Given the description of an element on the screen output the (x, y) to click on. 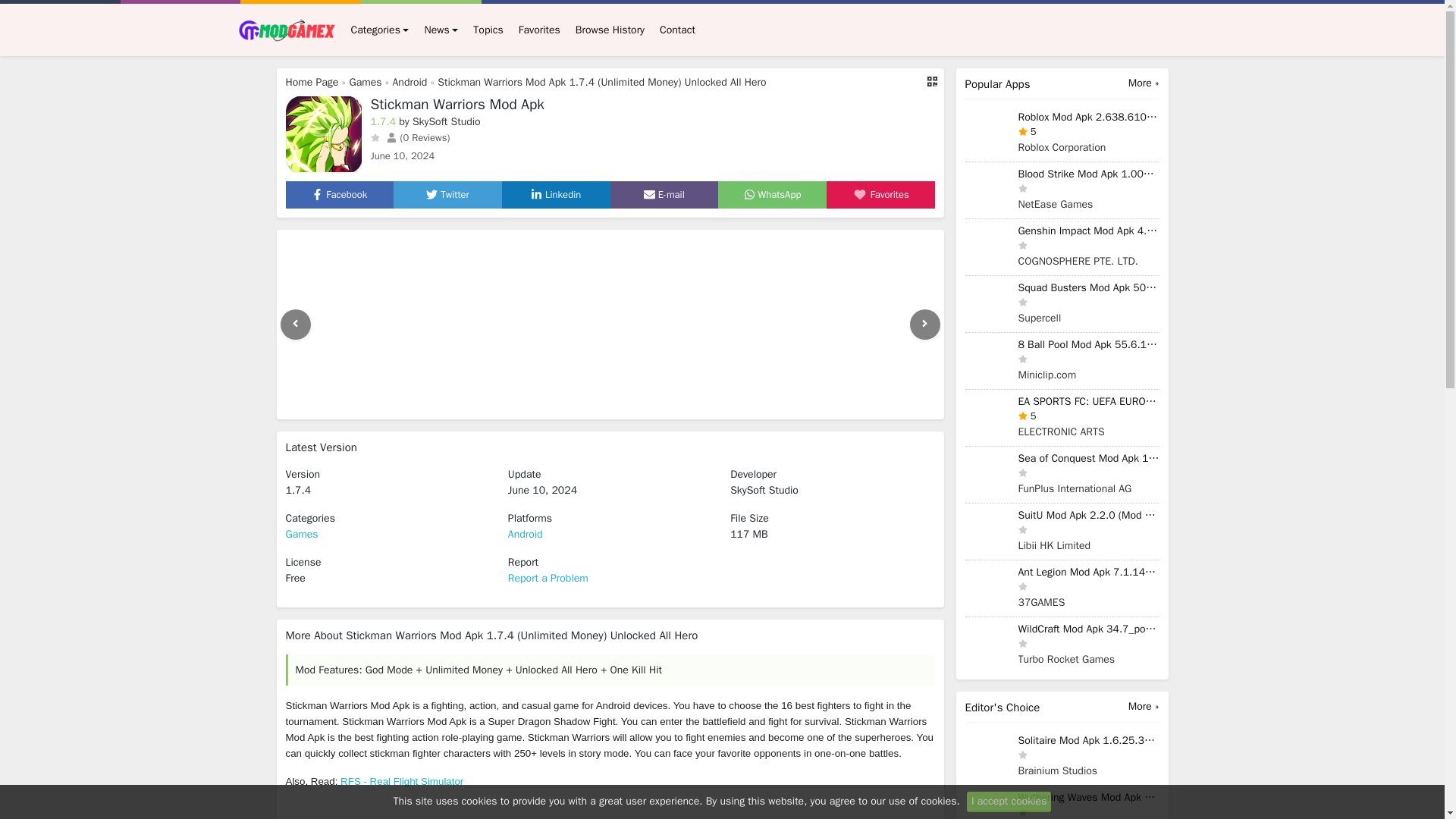
Home Page (311, 82)
Games (365, 82)
Categories (378, 29)
Linkedin (555, 194)
News (440, 29)
Facebook (338, 194)
Report a Problem (548, 577)
Android (410, 82)
Games (301, 533)
Topics (487, 29)
